Given the description of an element on the screen output the (x, y) to click on. 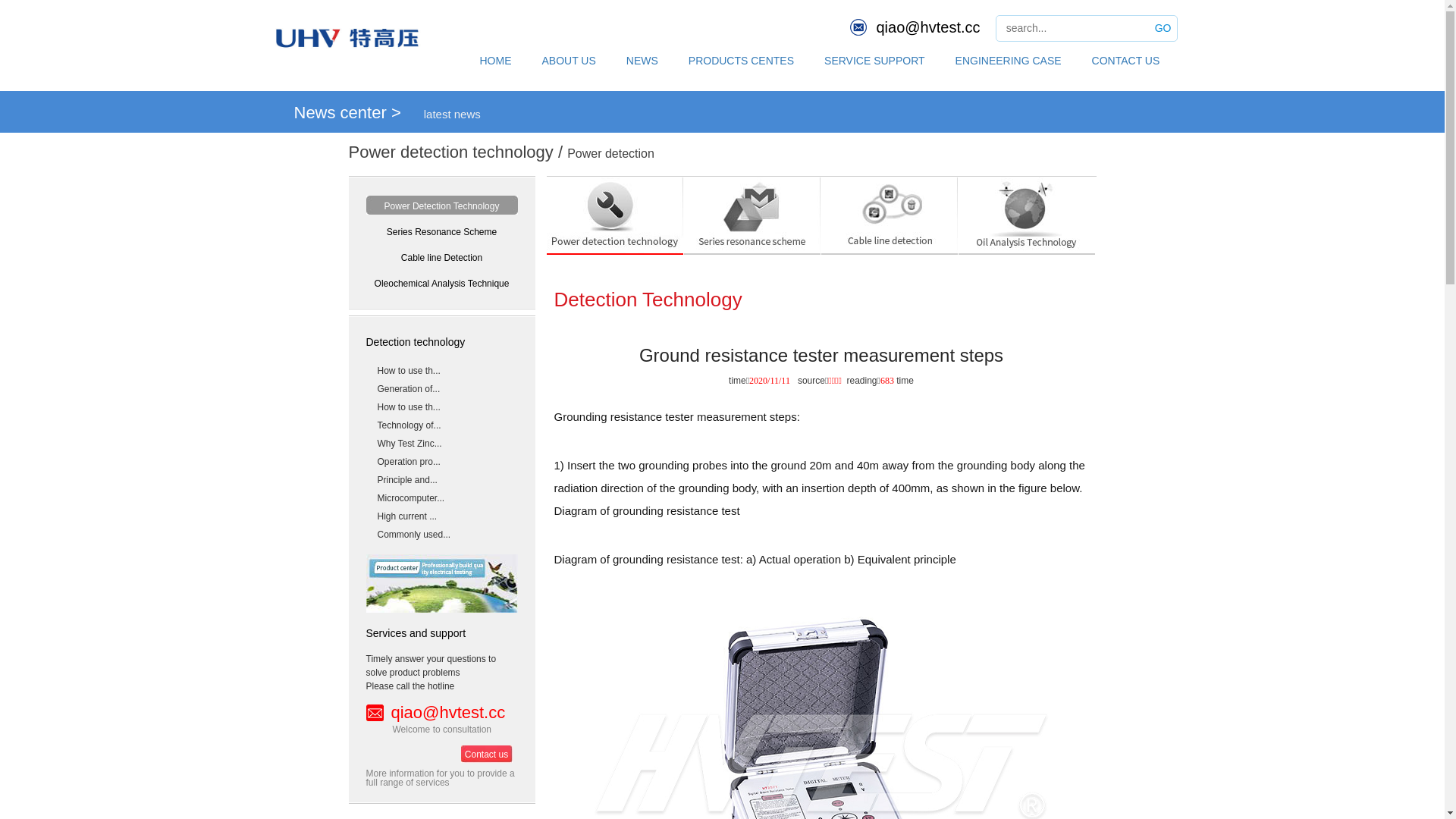
High current ... Element type: text (441, 514)
latest news Element type: text (452, 113)
Power Detection Technology Element type: text (441, 204)
Microcomputer... Element type: text (441, 496)
How to use th... Element type: text (441, 405)
ABOUT US Element type: text (568, 58)
ENGINEERING CASE Element type: text (1008, 58)
Generation of... Element type: text (441, 387)
Oleochemical Analysis Technique Element type: text (441, 282)
Technology of... Element type: text (441, 423)
HOME Element type: text (495, 58)
How to use th... Element type: text (441, 368)
GO Element type: text (1163, 28)
SERVICE SUPPORT Element type: text (874, 58)
Operation pro... Element type: text (441, 459)
Series Resonance Scheme Element type: text (441, 230)
News center > Element type: text (346, 112)
PRODUCTS CENTES Element type: text (741, 58)
Why Test Zinc... Element type: text (441, 441)
qiao@hvtest.cc Element type: text (927, 26)
Contact us Element type: text (486, 753)
Principle and... Element type: text (441, 478)
Commonly used... Element type: text (441, 532)
CONTACT US Element type: text (1125, 58)
NEWS Element type: text (642, 58)
Cable line Detection Element type: text (441, 256)
